Given the description of an element on the screen output the (x, y) to click on. 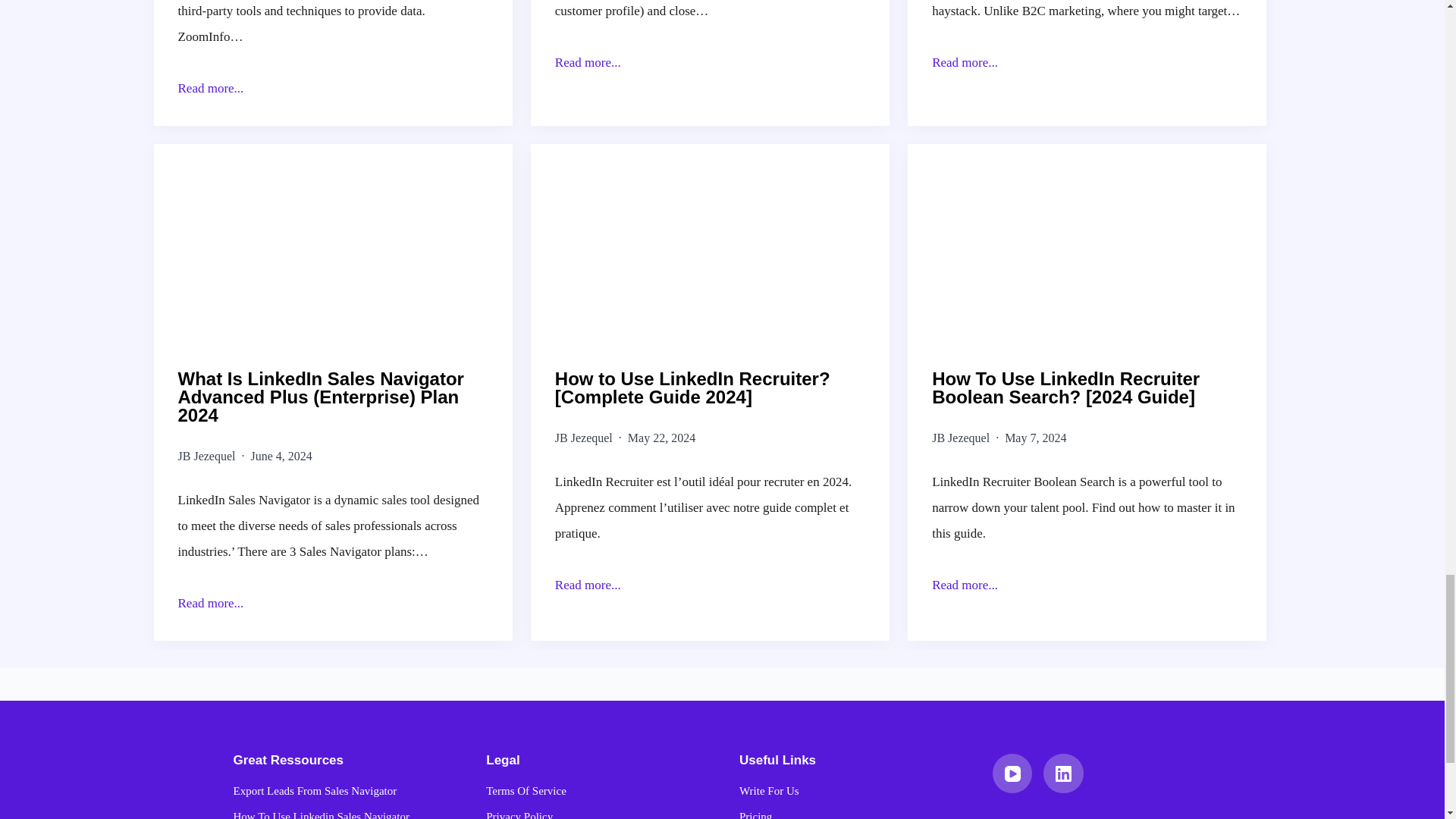
Read more... (332, 88)
Read more... (709, 62)
